Given the description of an element on the screen output the (x, y) to click on. 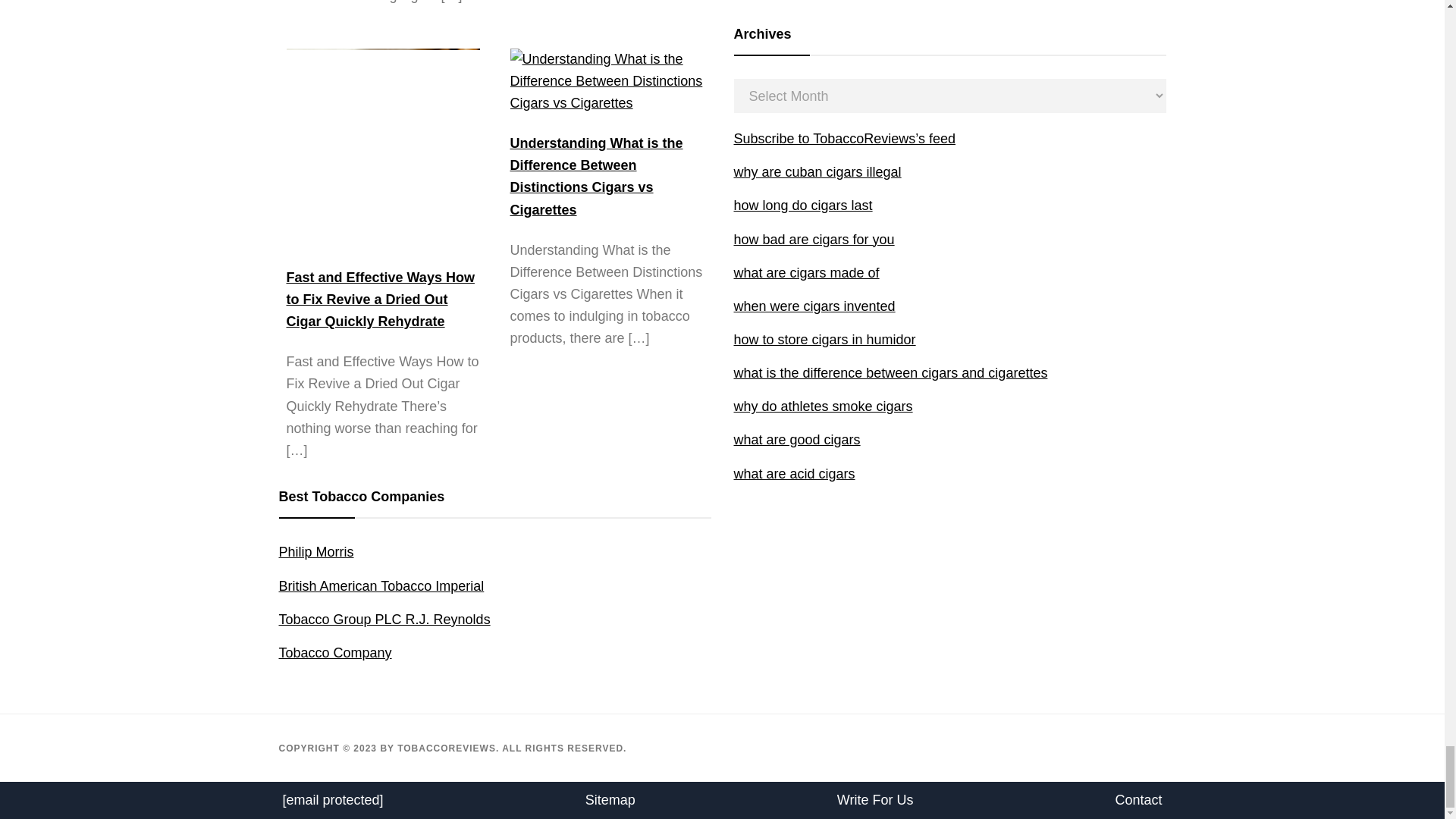
philip morris online (316, 551)
